Given the description of an element on the screen output the (x, y) to click on. 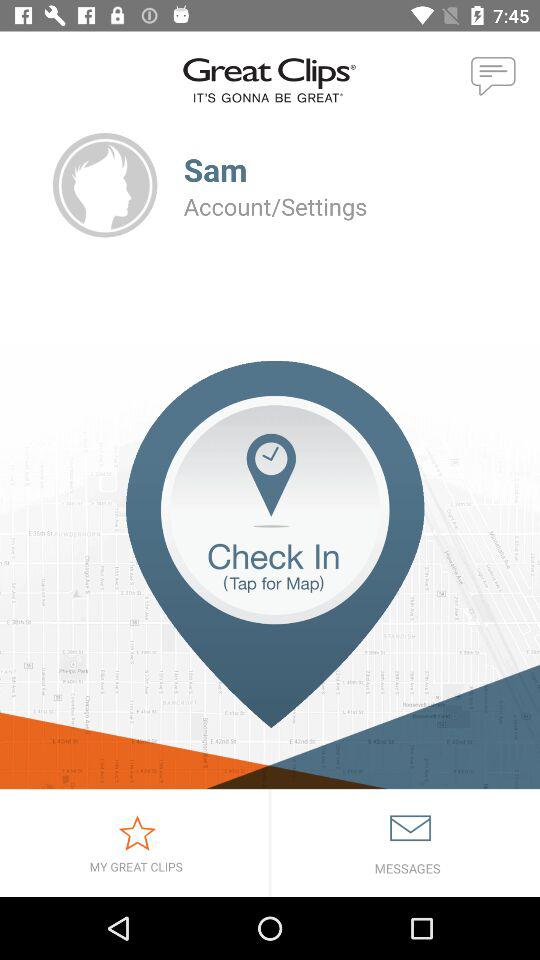
view map (269, 574)
